Given the description of an element on the screen output the (x, y) to click on. 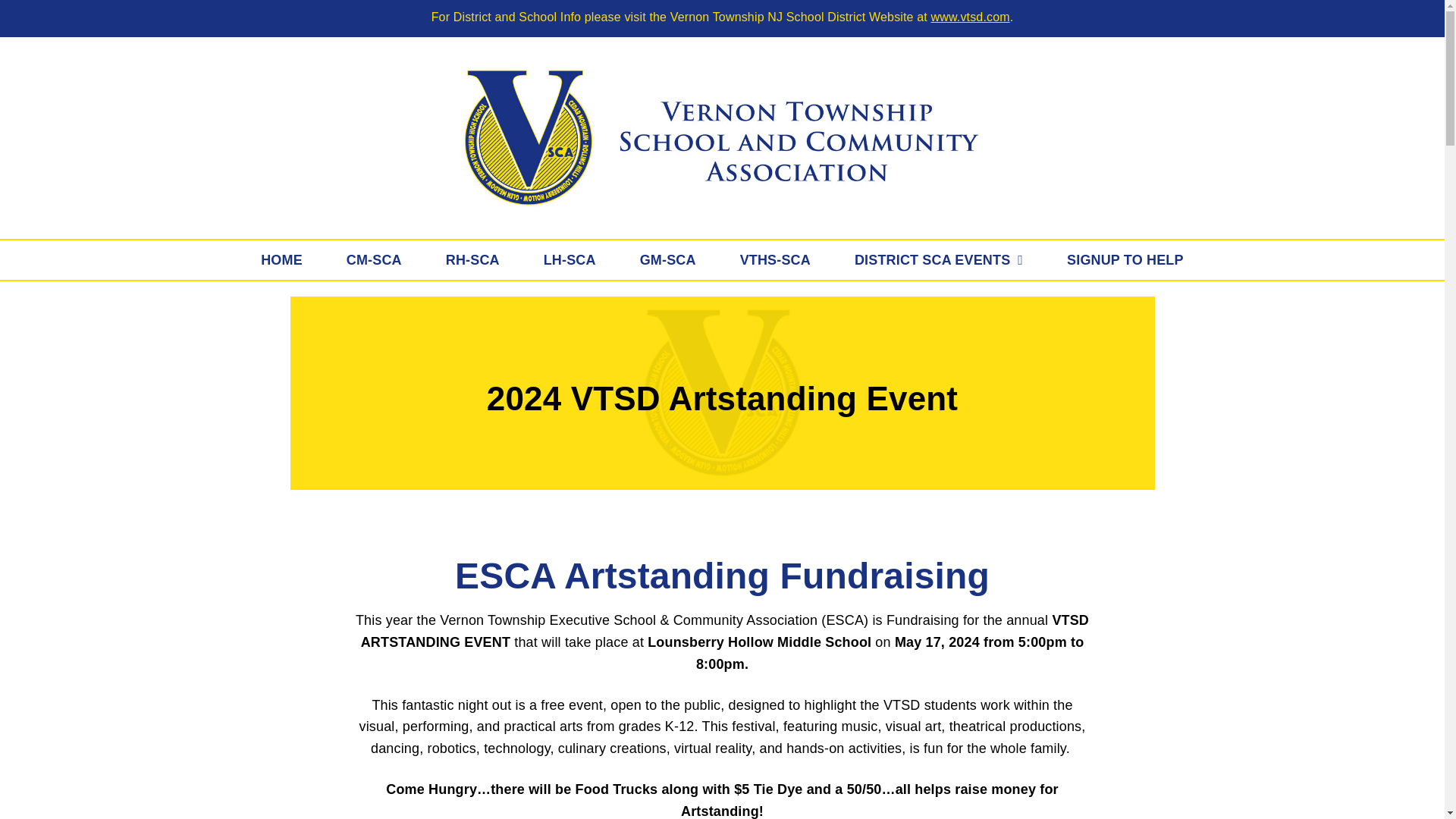
GM-SCA (667, 260)
SIGNUP TO HELP (1125, 260)
DISTRICT SCA EVENTS (938, 260)
LH-SCA (569, 260)
RH-SCA (472, 260)
HOME (281, 260)
VTHS-SCA (774, 260)
CM-SCA (373, 260)
